Given the description of an element on the screen output the (x, y) to click on. 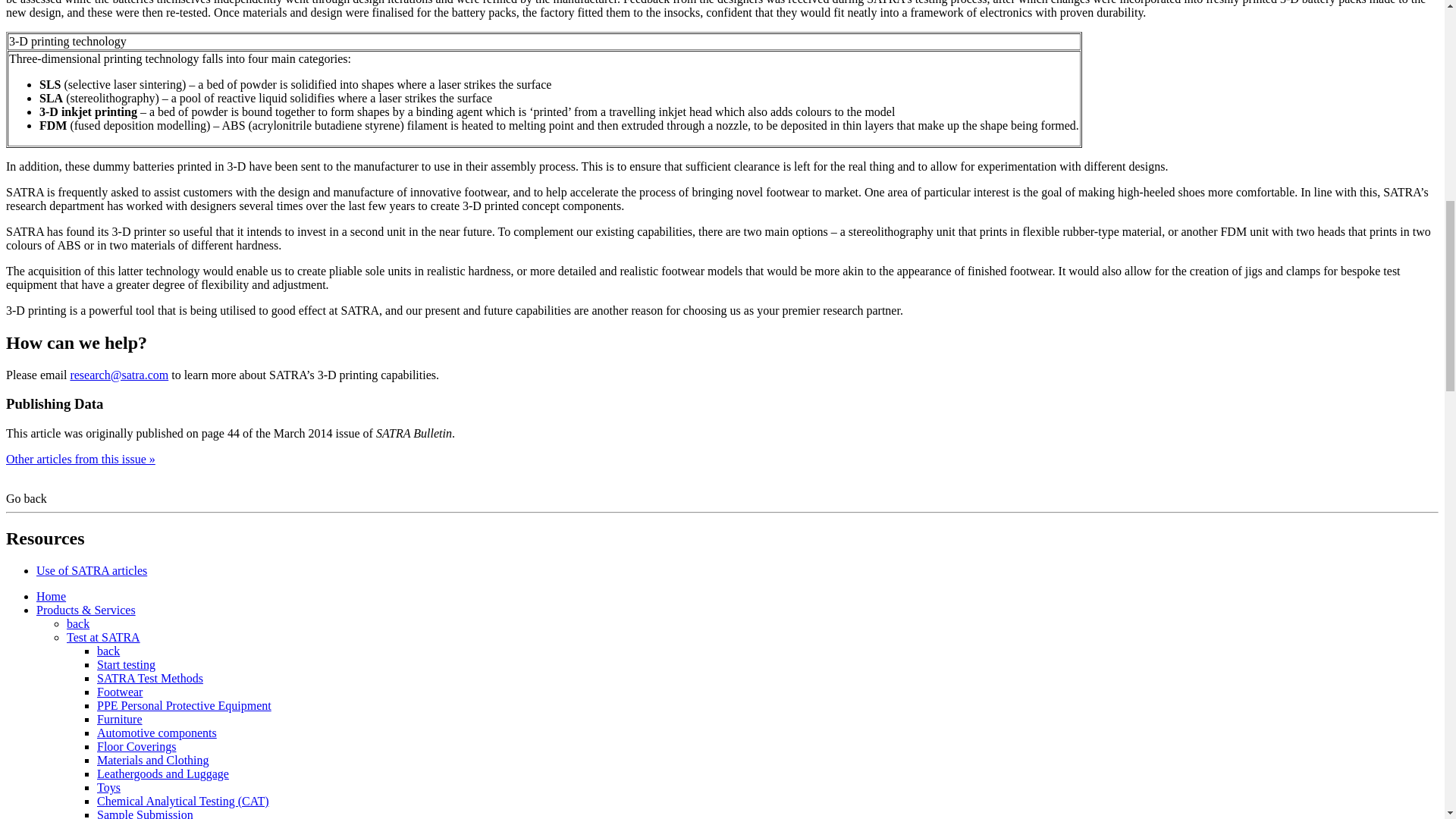
back (77, 623)
PPE Personal Protective Equipment (183, 705)
back (108, 650)
Furniture (119, 718)
Footwear (119, 691)
Test at SATRA (102, 636)
Toys (108, 787)
Floor Coverings (136, 746)
Leathergoods and Luggage (162, 773)
Use of SATRA articles (91, 570)
